Given the description of an element on the screen output the (x, y) to click on. 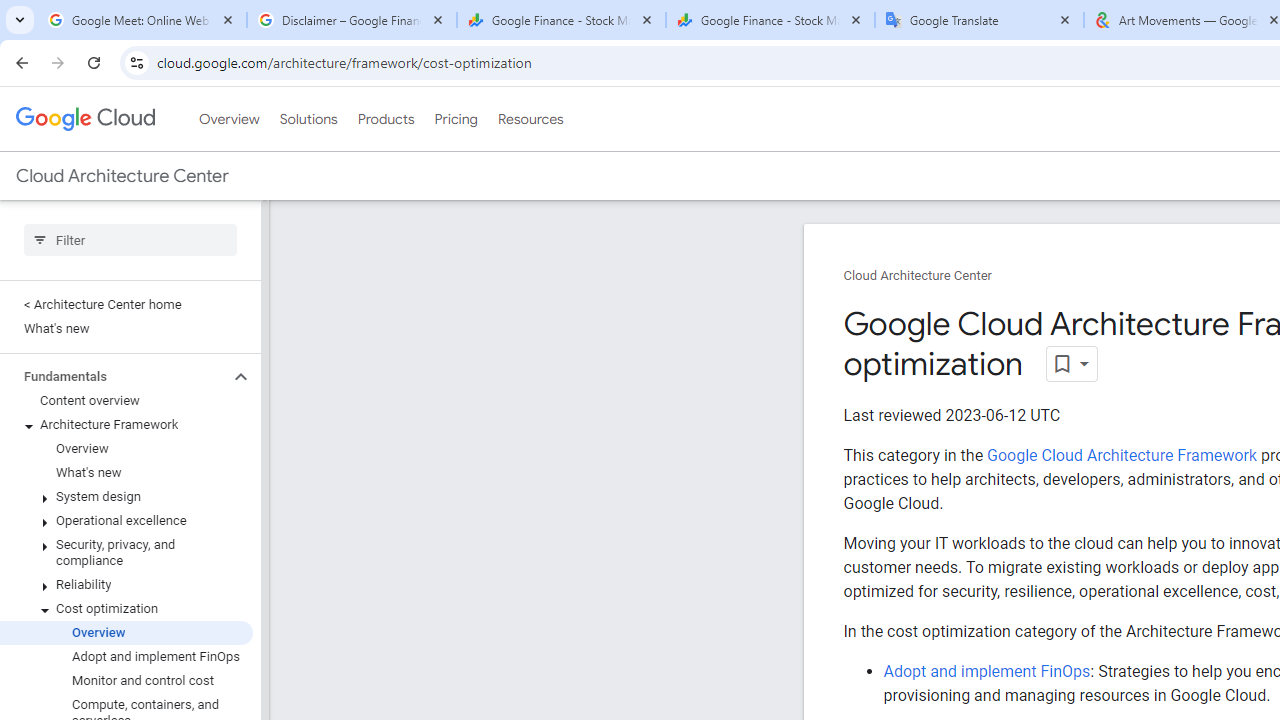
Products (385, 119)
Adopt and implement FinOps (986, 671)
Operational excellence (126, 520)
Fundamentals (114, 376)
Cost optimization (126, 608)
Google Translate (979, 20)
Architecture Framework (126, 425)
Solutions (308, 119)
Google Cloud Architecture Framework (1121, 455)
